Given the description of an element on the screen output the (x, y) to click on. 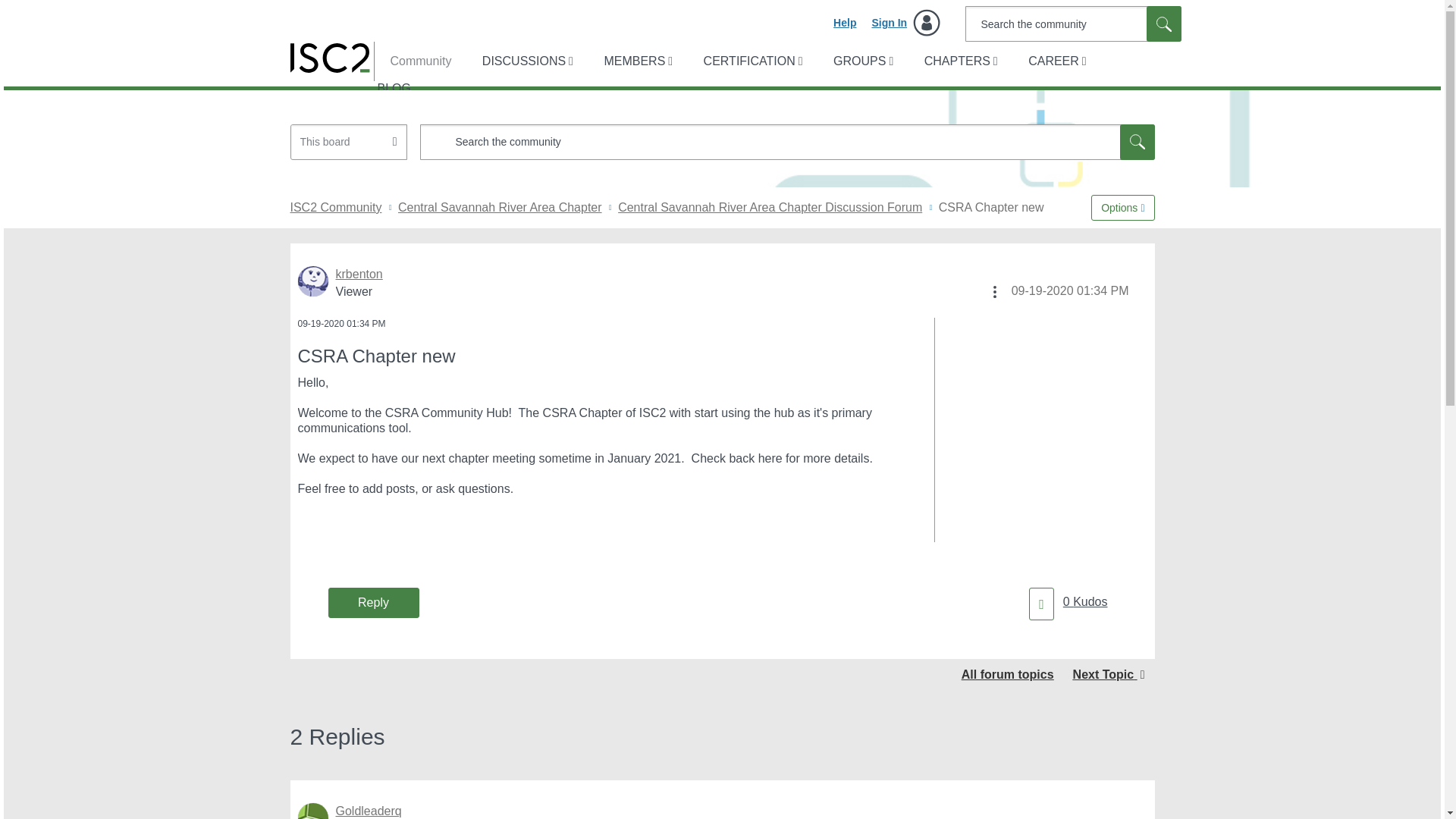
Search (1163, 23)
CERTIFICATION (751, 61)
Search (1136, 141)
Search (1163, 23)
Search Granularity (348, 141)
Help (844, 22)
GROUPS (861, 61)
Community (412, 61)
Sign In (906, 22)
Search (1071, 23)
